Given the description of an element on the screen output the (x, y) to click on. 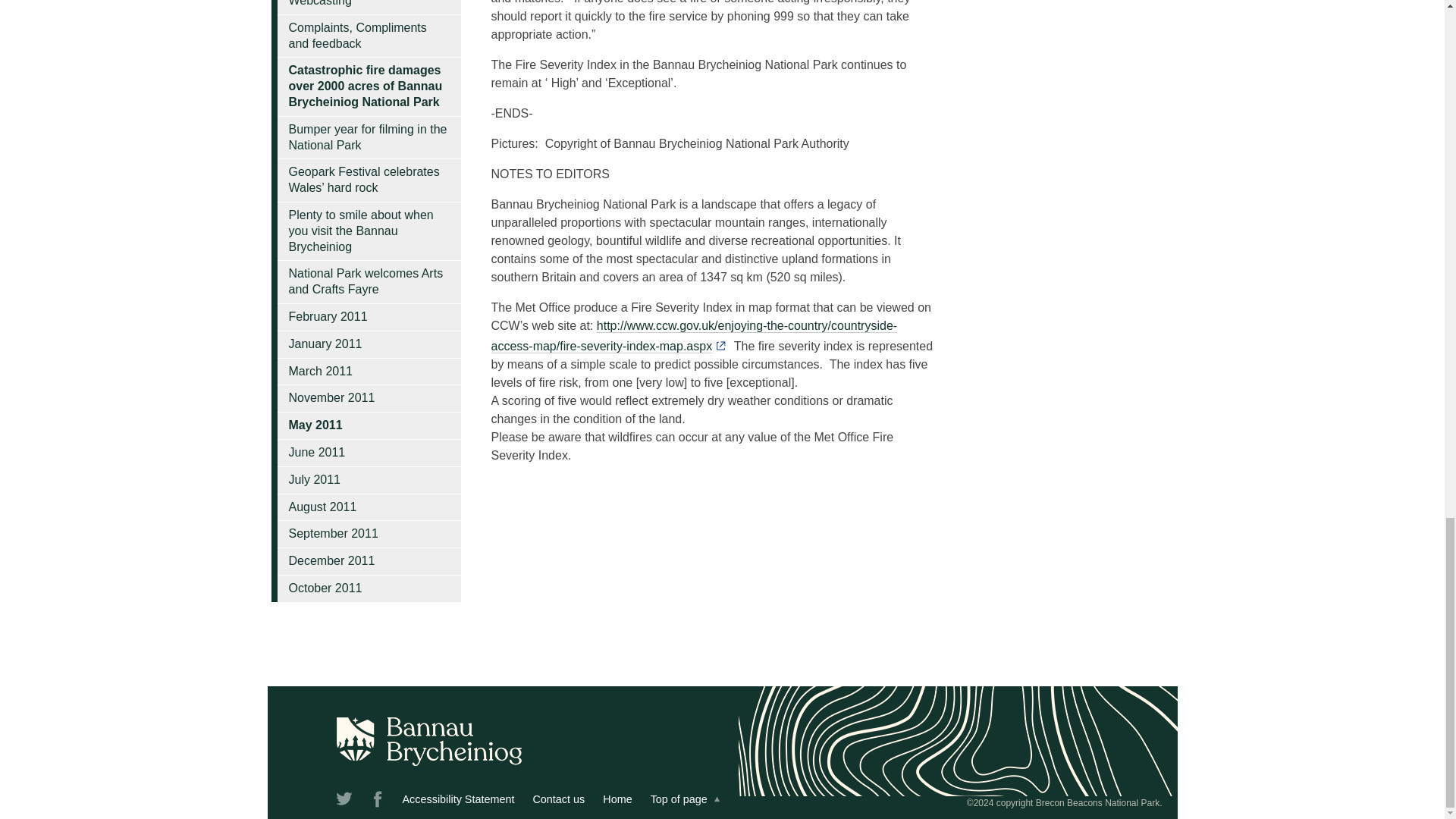
Brecon Beacons National Park homepage (616, 799)
Get our updates on Facebook (378, 801)
Follow us on Twitter (344, 801)
